Given the description of an element on the screen output the (x, y) to click on. 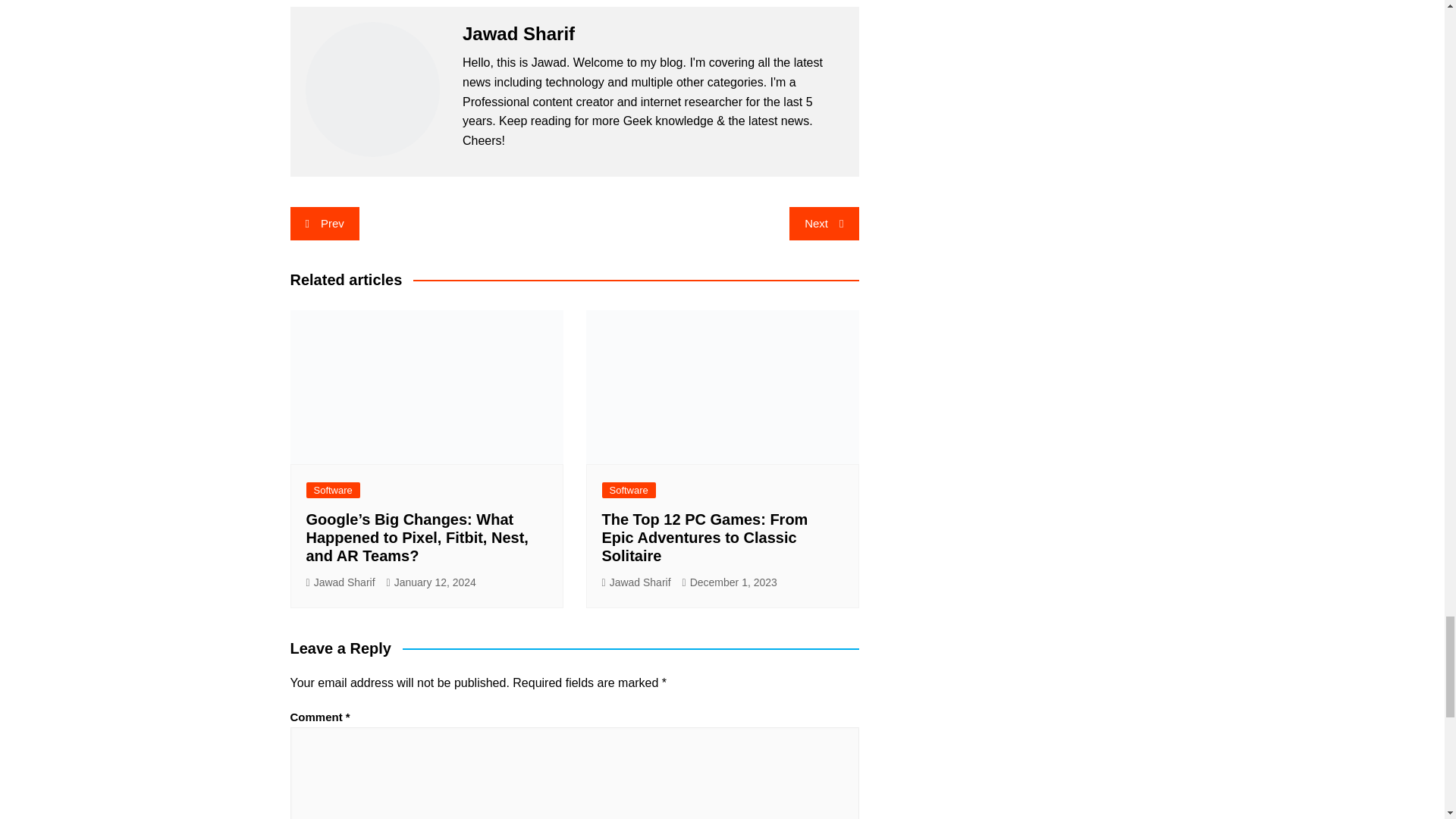
Jawad Sharif (340, 582)
January 12, 2024 (431, 582)
Software (332, 489)
Prev (323, 223)
Software (629, 489)
Next (824, 223)
